Given the description of an element on the screen output the (x, y) to click on. 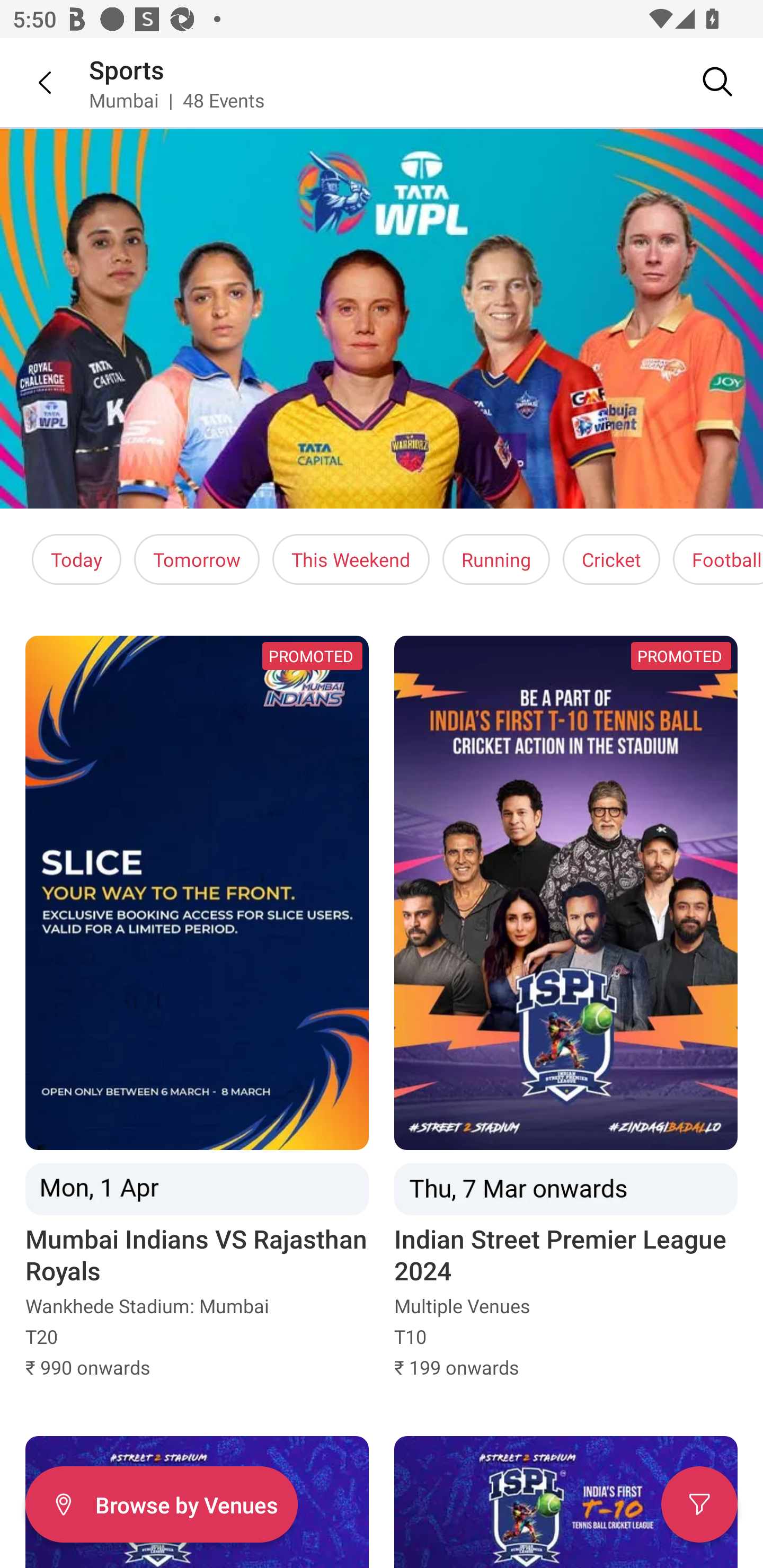
Back (31, 82)
Sports (126, 68)
Mumbai  |  48 Events (177, 99)
Today (76, 559)
Tomorrow (196, 559)
This Weekend (350, 559)
Running (496, 559)
Cricket (611, 559)
Filter Browse by Venues (161, 1504)
Filter (699, 1504)
